Given the description of an element on the screen output the (x, y) to click on. 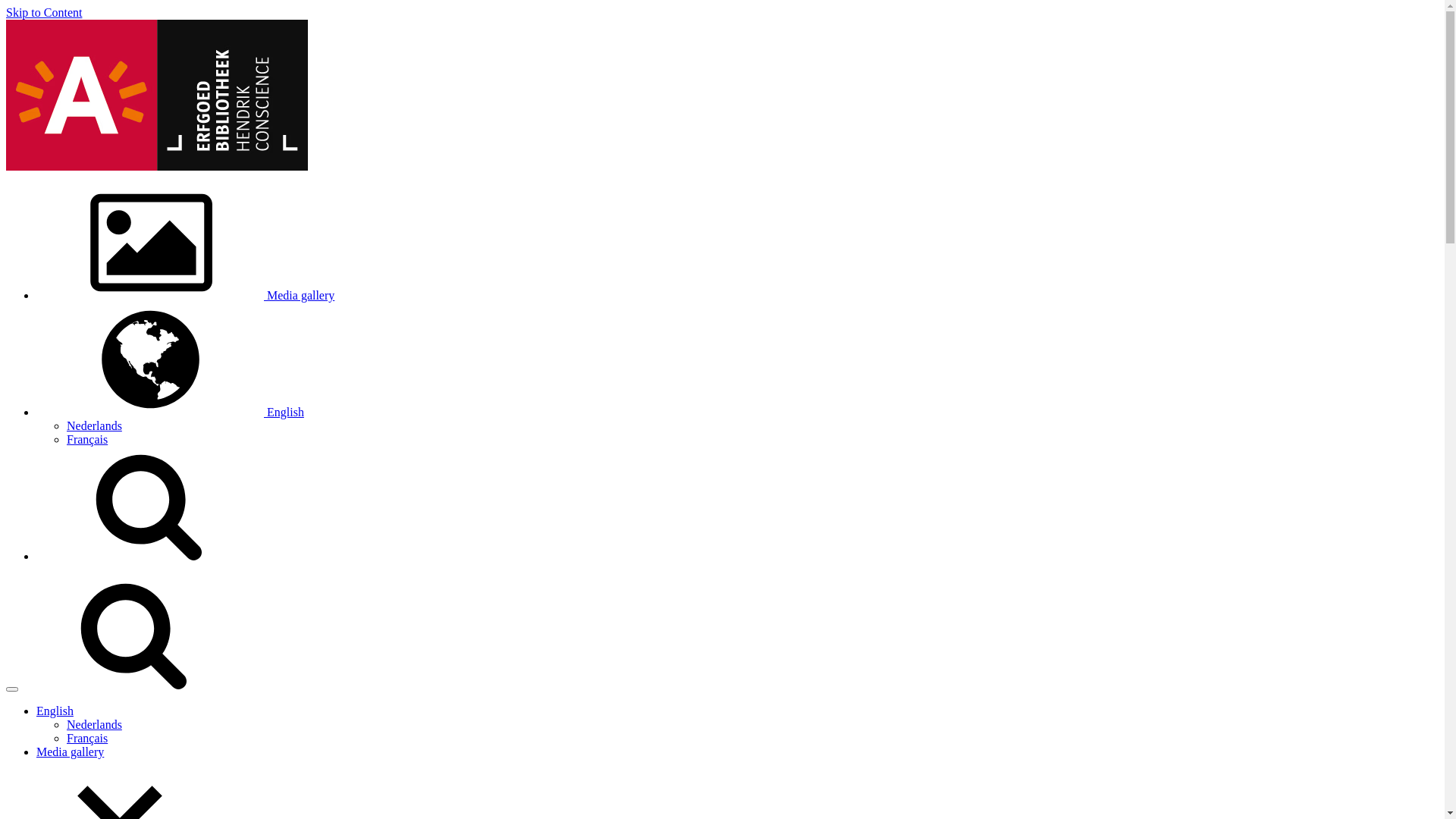
English Element type: text (170, 411)
Search in newsroom Element type: hover (149, 555)
Skip to Content Element type: text (43, 12)
Media gallery Element type: text (185, 294)
Media gallery Element type: text (69, 751)
Nederlands Element type: text (94, 425)
English Element type: text (54, 710)
Hendrik Conscience Heritage Library Element type: hover (156, 166)
Search in newsroom Element type: hover (134, 684)
Nederlands Element type: text (94, 724)
